Given the description of an element on the screen output the (x, y) to click on. 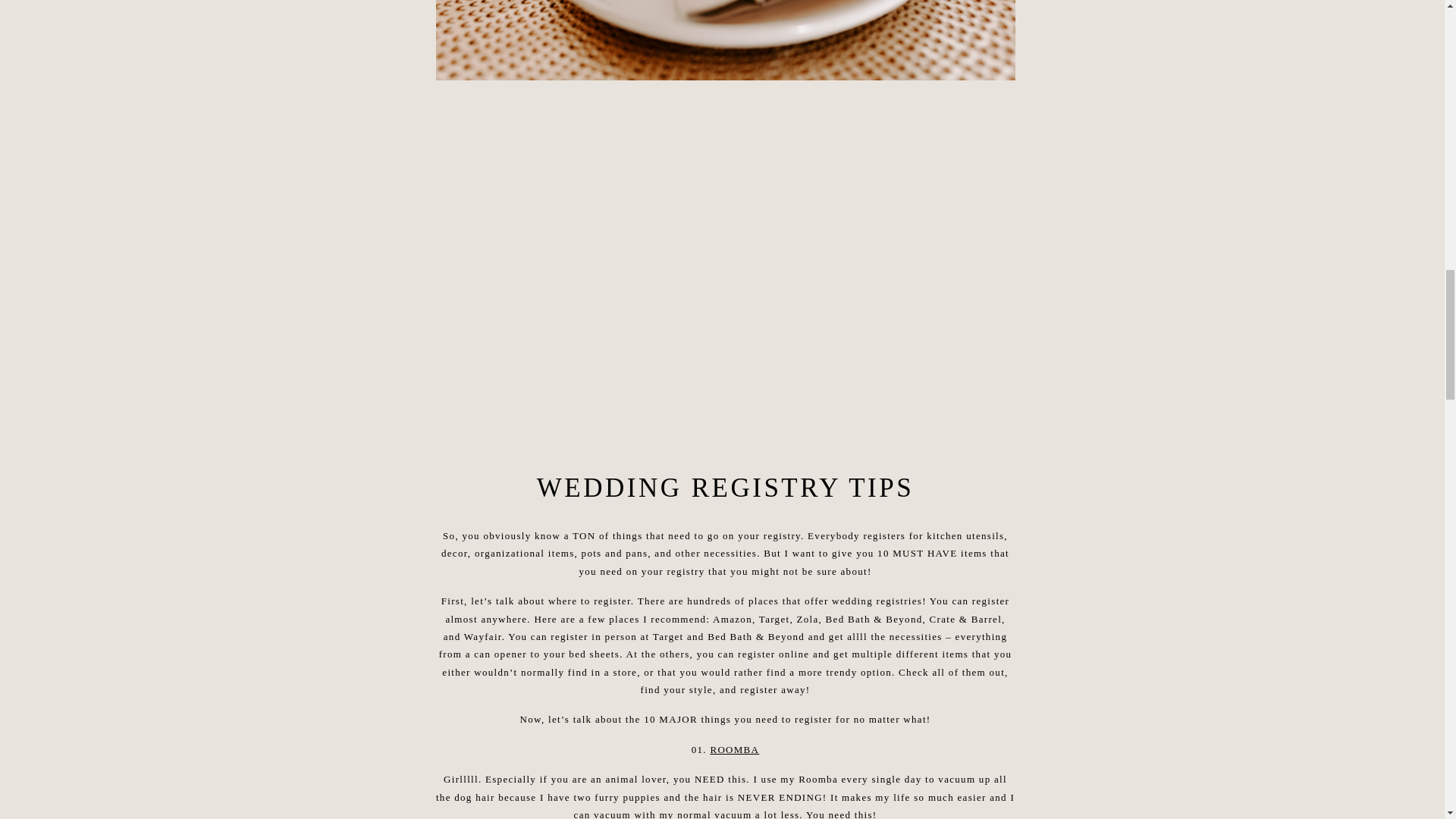
ROOMBA (734, 749)
